Given the description of an element on the screen output the (x, y) to click on. 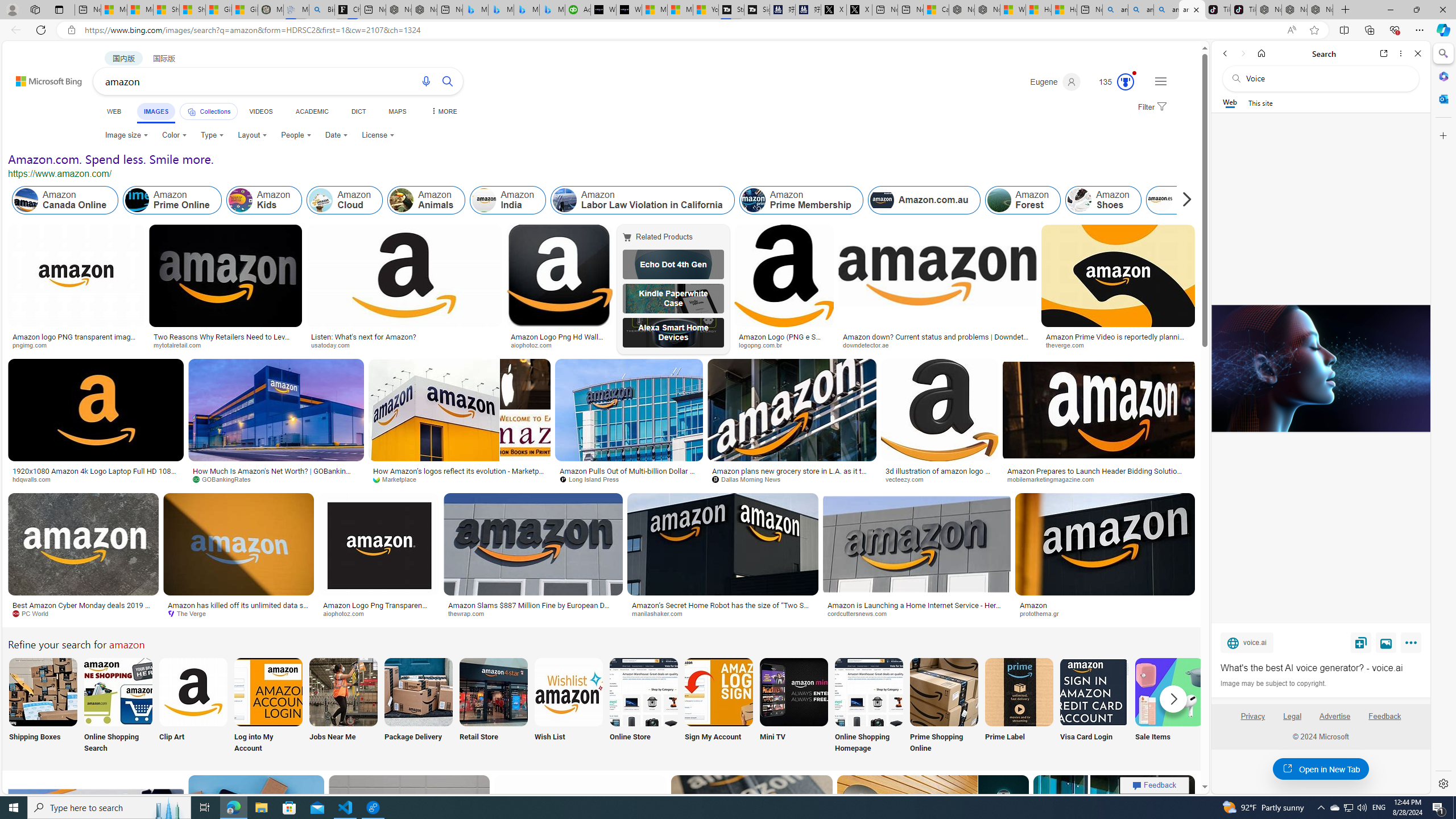
Amazon down? Current status and problems | Downdetector (937, 340)
Amazon Sign in My Account Sign My Account (718, 706)
Amazon Jobs Near Me (342, 691)
Customize (1442, 135)
Nordace - Best Sellers (1268, 9)
theverge.com (1118, 344)
Sale Items (1169, 706)
thewrap.com (470, 612)
Class: b_pri_nav_svg (191, 112)
Outlook (1442, 98)
manilashaker.com (722, 613)
